Given the description of an element on the screen output the (x, y) to click on. 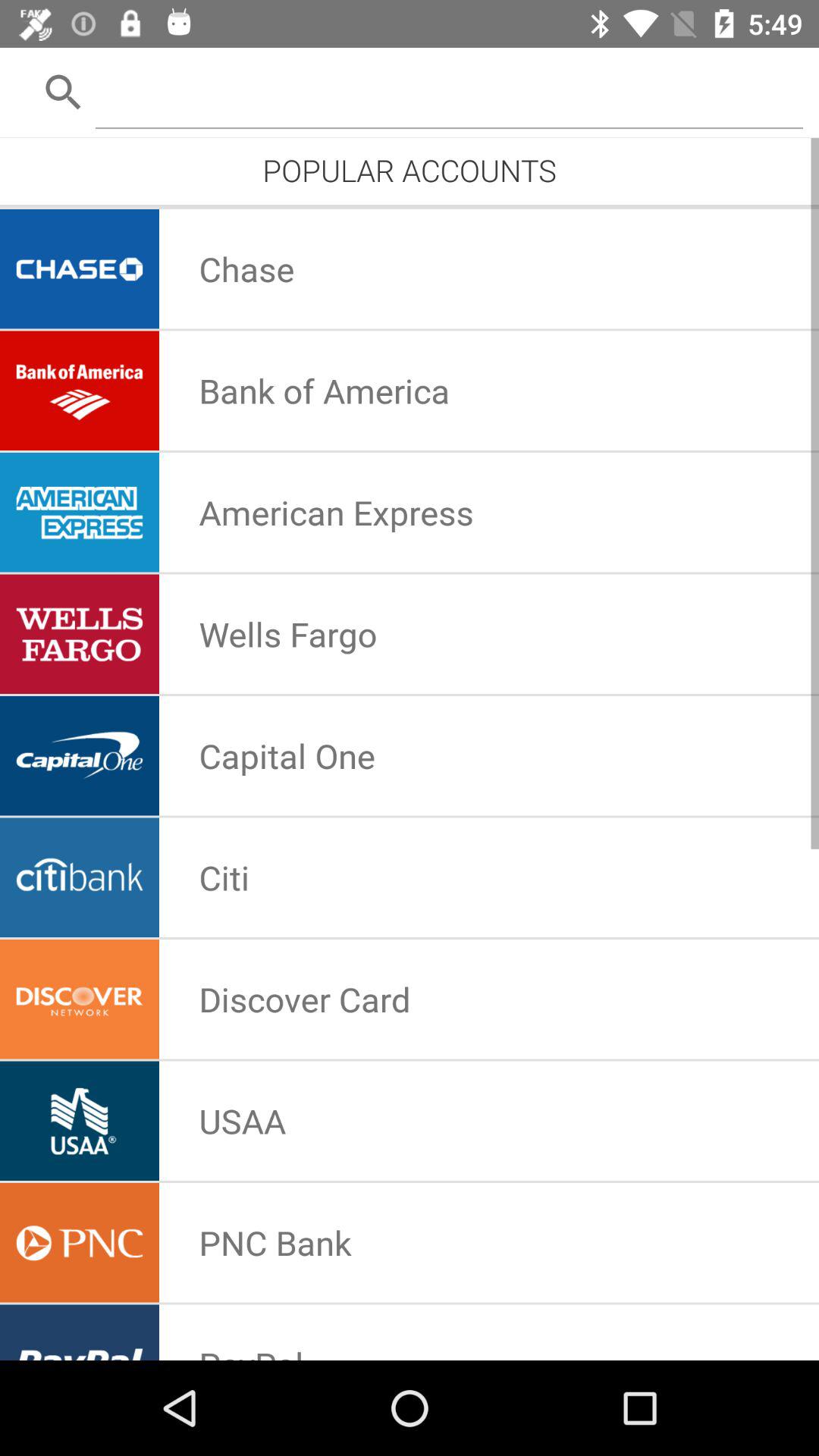
open search bar (449, 91)
